Given the description of an element on the screen output the (x, y) to click on. 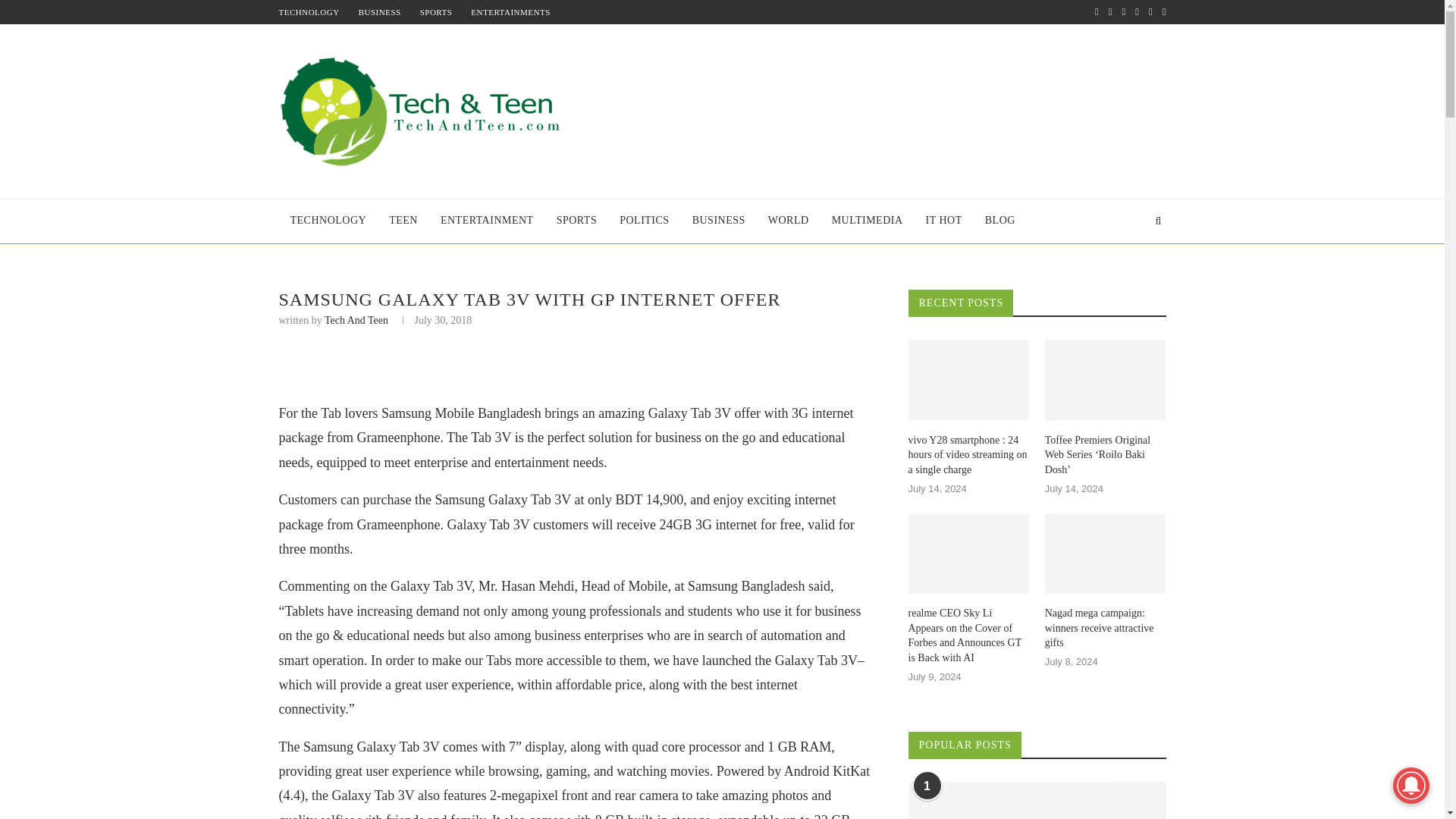
SPORTS (576, 221)
ENTERTAINMENT (486, 221)
WORLD (789, 221)
POLITICS (643, 221)
MULTIMEDIA (867, 221)
BUSINESS (379, 11)
Tech And Teen (356, 319)
IT HOT (944, 221)
TECHNOLOGY (328, 221)
TECHNOLOGY (309, 11)
ENTERTAINMENTS (510, 11)
BLOG (1000, 221)
SPORTS (436, 11)
TEEN (403, 221)
BUSINESS (719, 221)
